Given the description of an element on the screen output the (x, y) to click on. 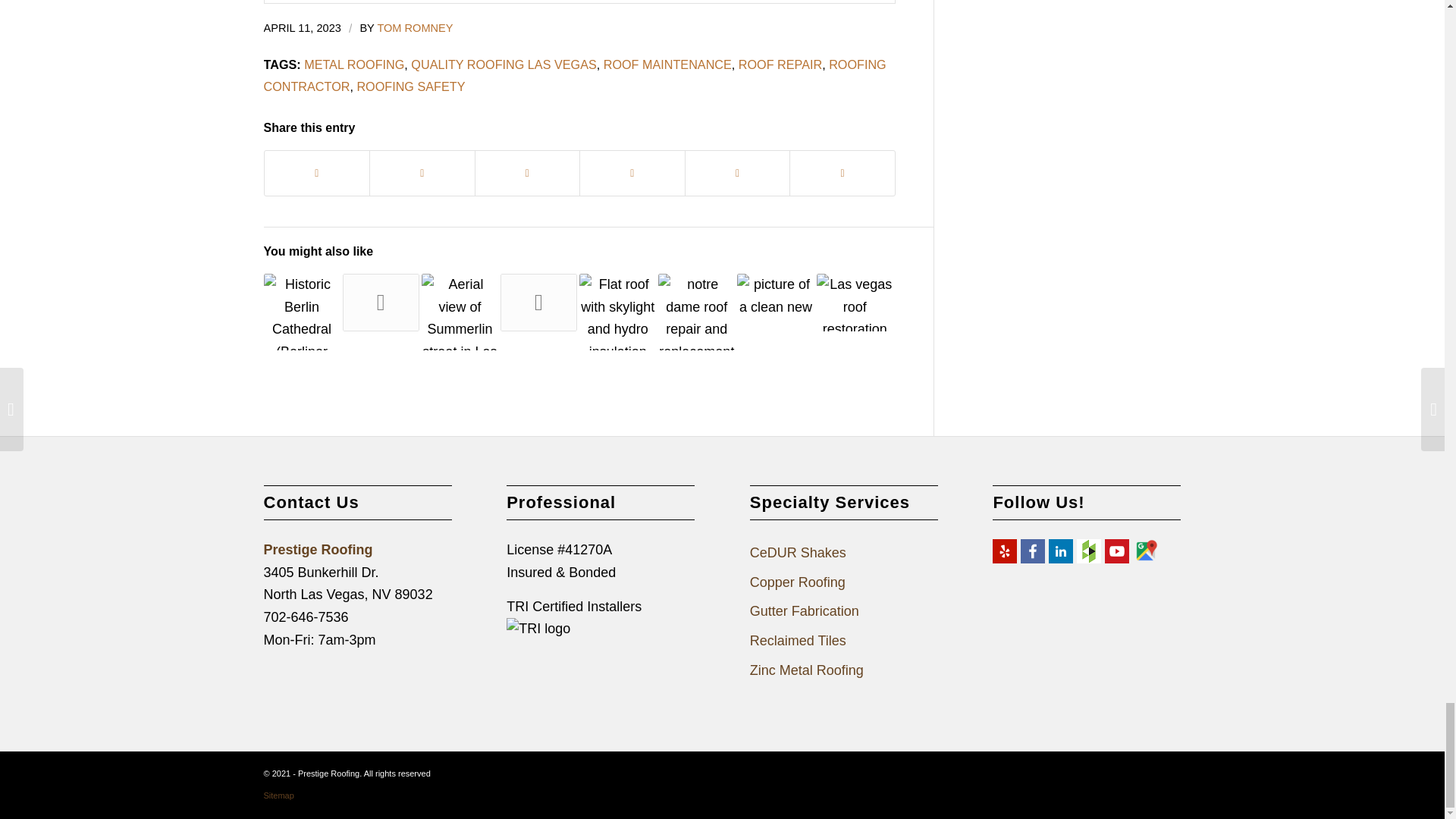
Wind Damage to Your Roof (380, 302)
Las Vegas Roofing Companies: Addressing Common Roof Problems (459, 311)
Famous Copper Domes Around the World (301, 311)
Posts by Tom Romney (414, 28)
Thermal Shock in the Midst of Summer (538, 302)
